Given the description of an element on the screen output the (x, y) to click on. 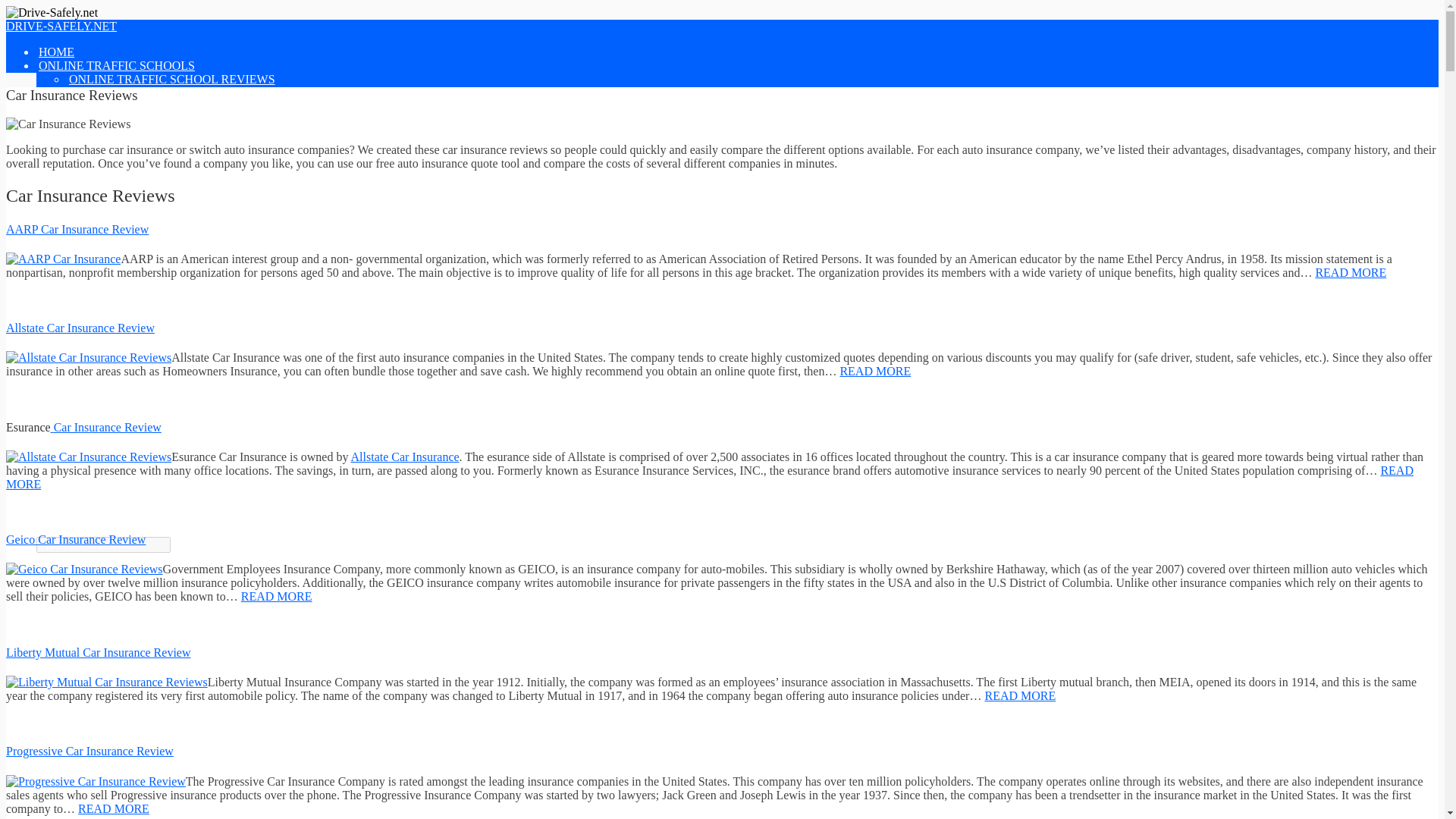
DRIVING RECORDS (123, 434)
DRIVING TIPS (77, 202)
SAFE DRIVING TIPS (124, 215)
DEFENSIVE DRIVING (129, 229)
ONLINE ADULT DRIVERS ED REVIEWS (177, 174)
TIPS FOR AVOIDING TICKETS (151, 297)
ONLINE TRAFFIC SCHOOL TEST ANSWERS (189, 133)
Drive-Safely.net (60, 25)
Online Traffic School Reviews (172, 79)
ONLINE TRAFFIC SCHOOLS (116, 65)
